Given the description of an element on the screen output the (x, y) to click on. 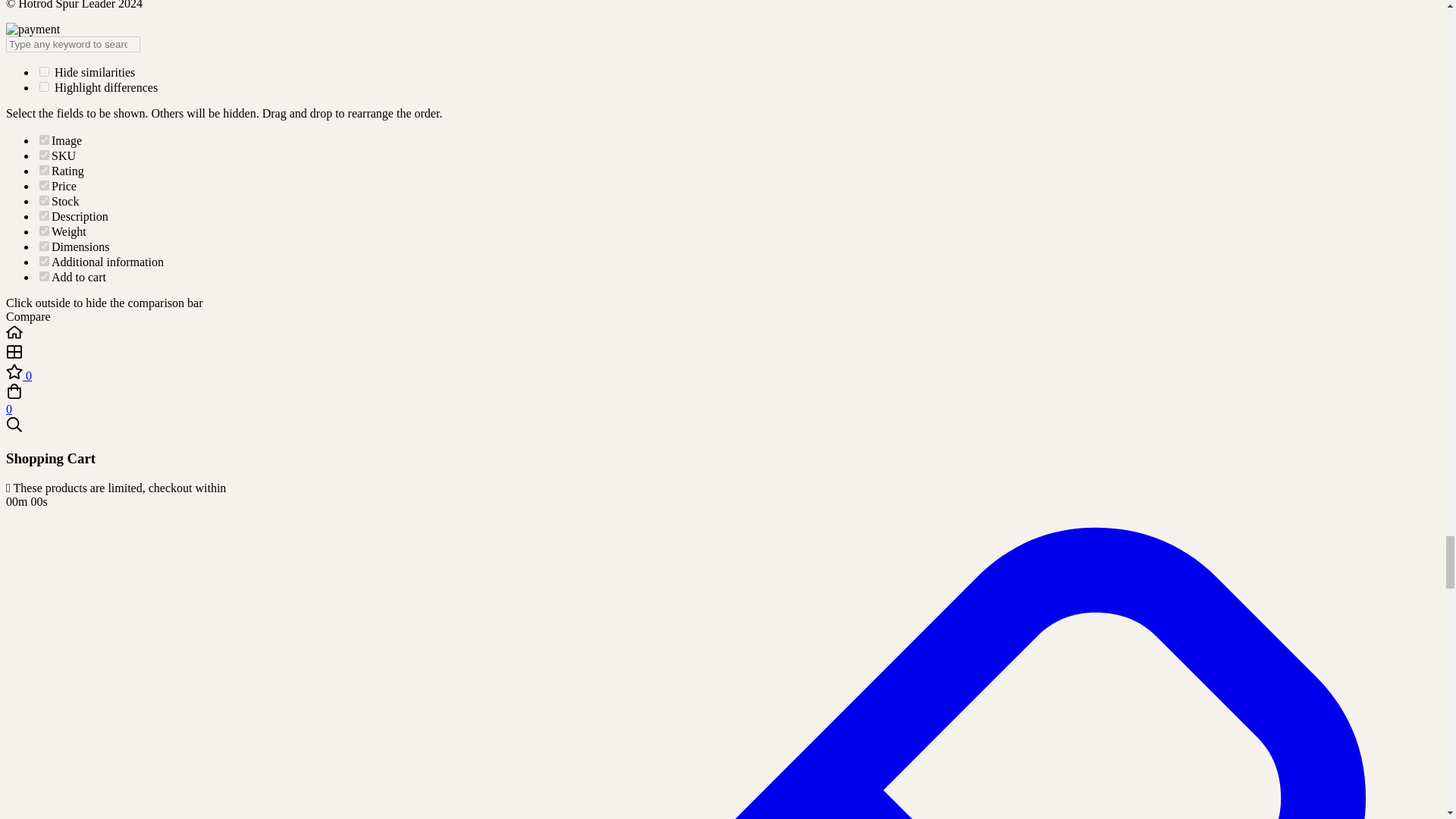
scvn (44, 215)
h6ef (44, 185)
h3xb (44, 276)
qv1m (44, 230)
k3gw (44, 245)
bqna (44, 200)
vbhl (44, 170)
xnef (44, 154)
ldoy (44, 139)
02jp (44, 261)
